Given the description of an element on the screen output the (x, y) to click on. 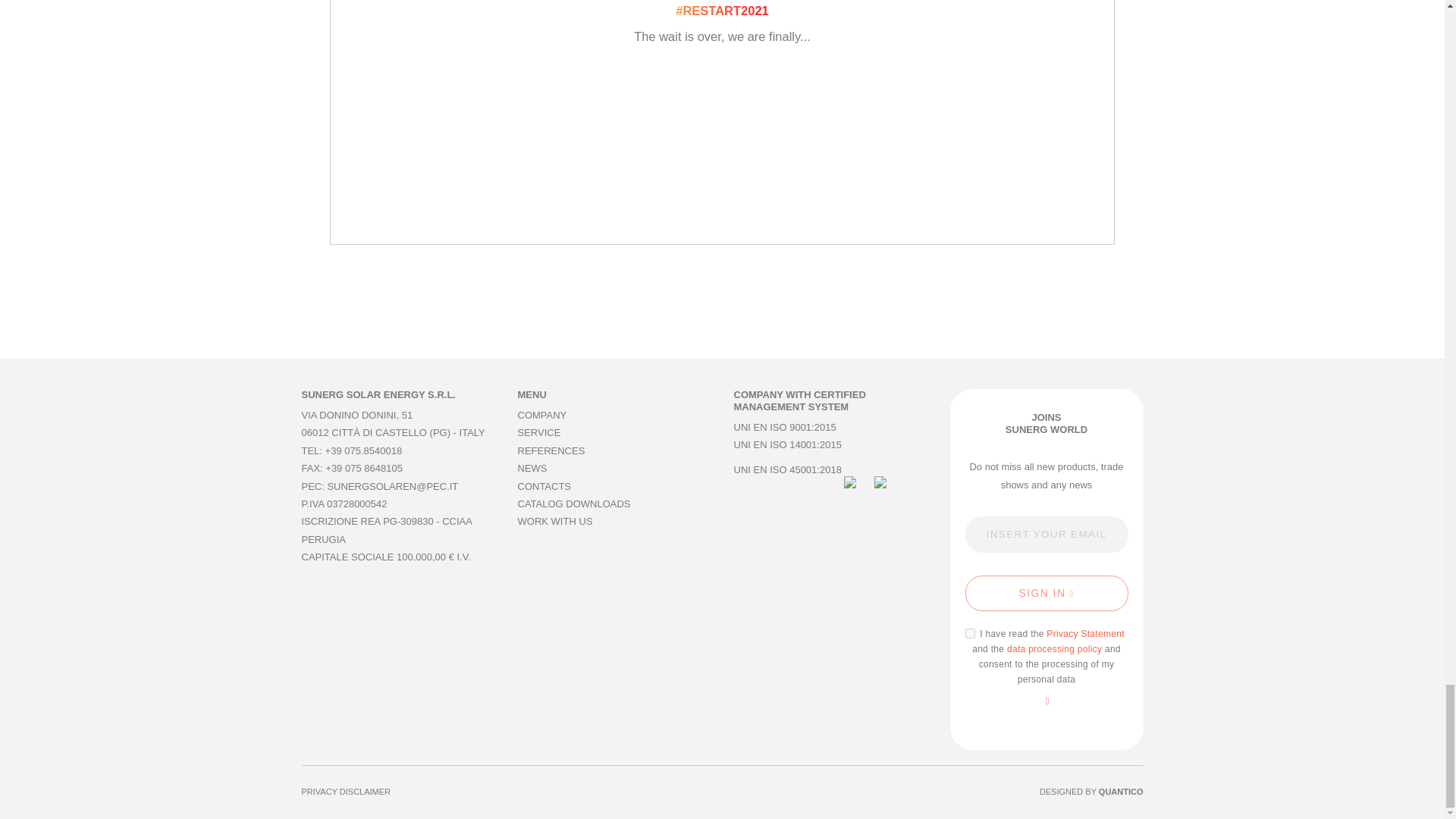
1 (968, 633)
